Given the description of an element on the screen output the (x, y) to click on. 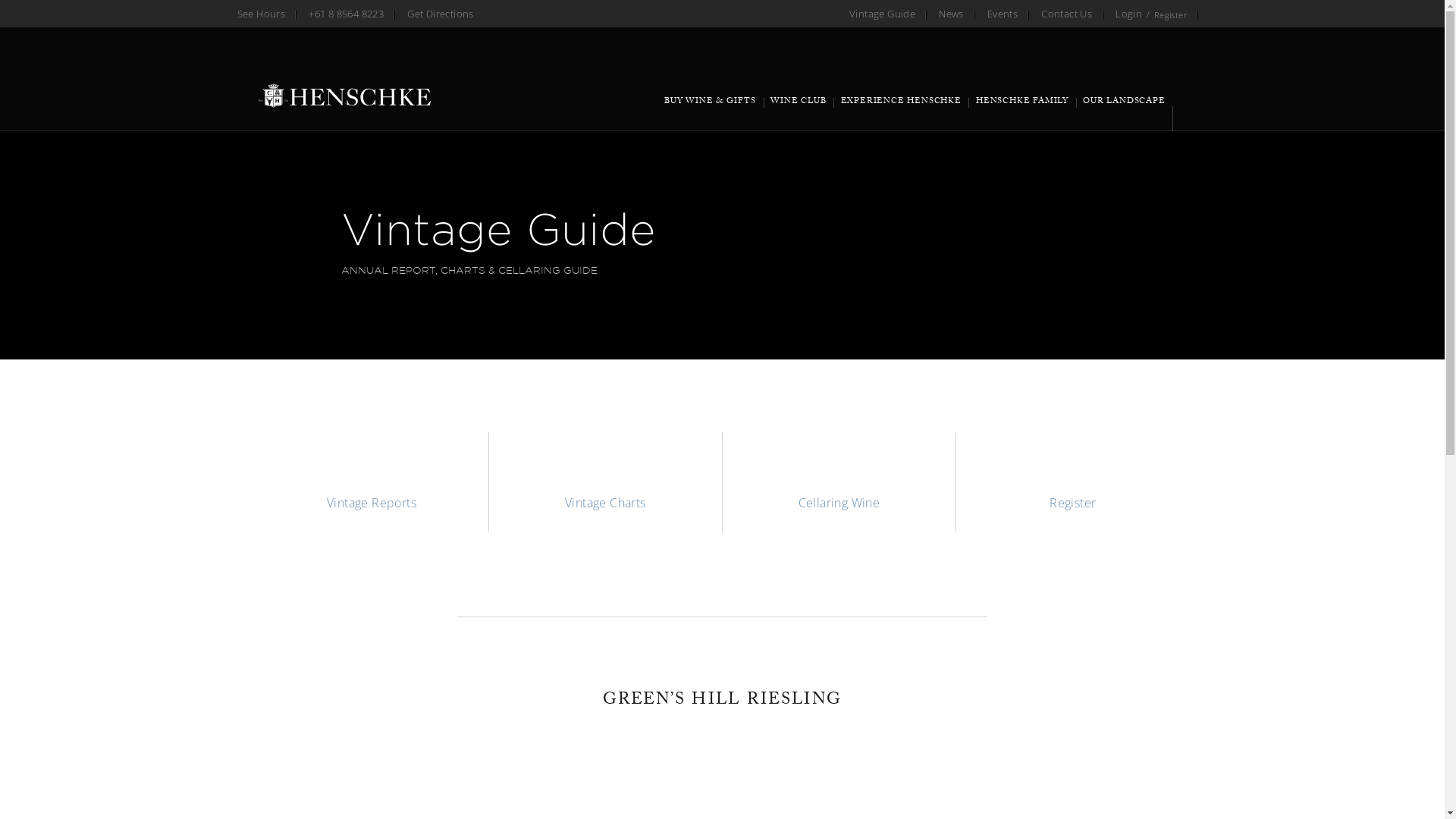
CART Element type: text (1180, 117)
Vintage Guide Element type: text (882, 13)
Contact Us Element type: text (1066, 13)
Vintage Charts Element type: text (605, 481)
Login Element type: text (1128, 13)
BUY WINE & GIFTS Element type: text (710, 109)
Cellaring Wine Element type: text (838, 481)
Events Element type: text (1002, 13)
Register Element type: text (1166, 14)
News Element type: text (950, 13)
Vintage Reports Element type: text (370, 481)
See Hours Element type: text (260, 13)
EXPERIENCE HENSCHKE Element type: text (900, 109)
OUR LANDSCAPE Element type: text (1124, 109)
HENSCHKE FAMILY Element type: text (1021, 109)
WINE CLUB Element type: text (798, 109)
Get Directions Element type: text (440, 13)
Register Element type: text (1072, 481)
